Given the description of an element on the screen output the (x, y) to click on. 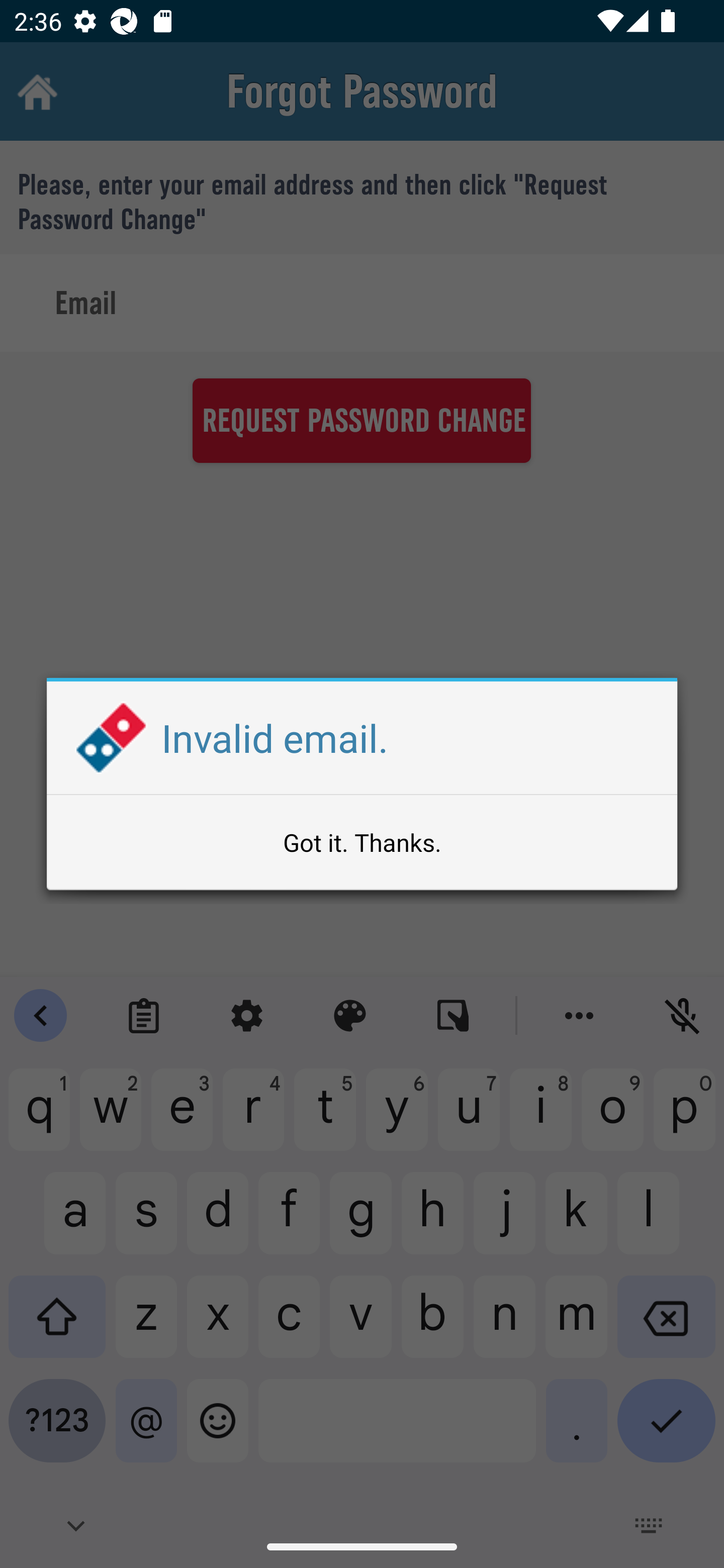
Got it. Thanks. (361, 842)
